Given the description of an element on the screen output the (x, y) to click on. 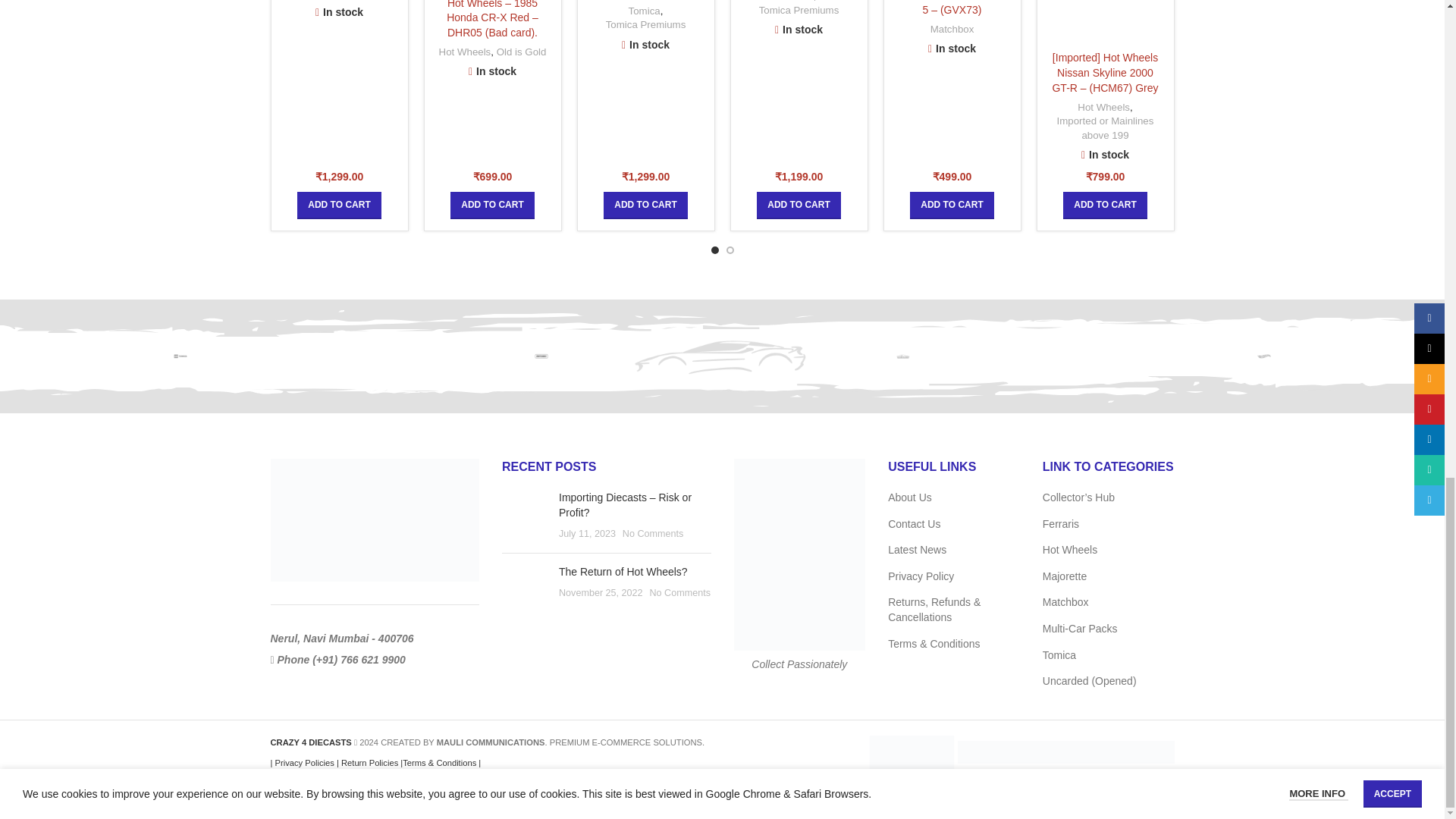
Tomica (180, 356)
Majorette (902, 356)
Permalink to The Return of Hot Wheels? (623, 571)
Hot Wheels (1263, 356)
Matchbox (541, 356)
